Given the description of an element on the screen output the (x, y) to click on. 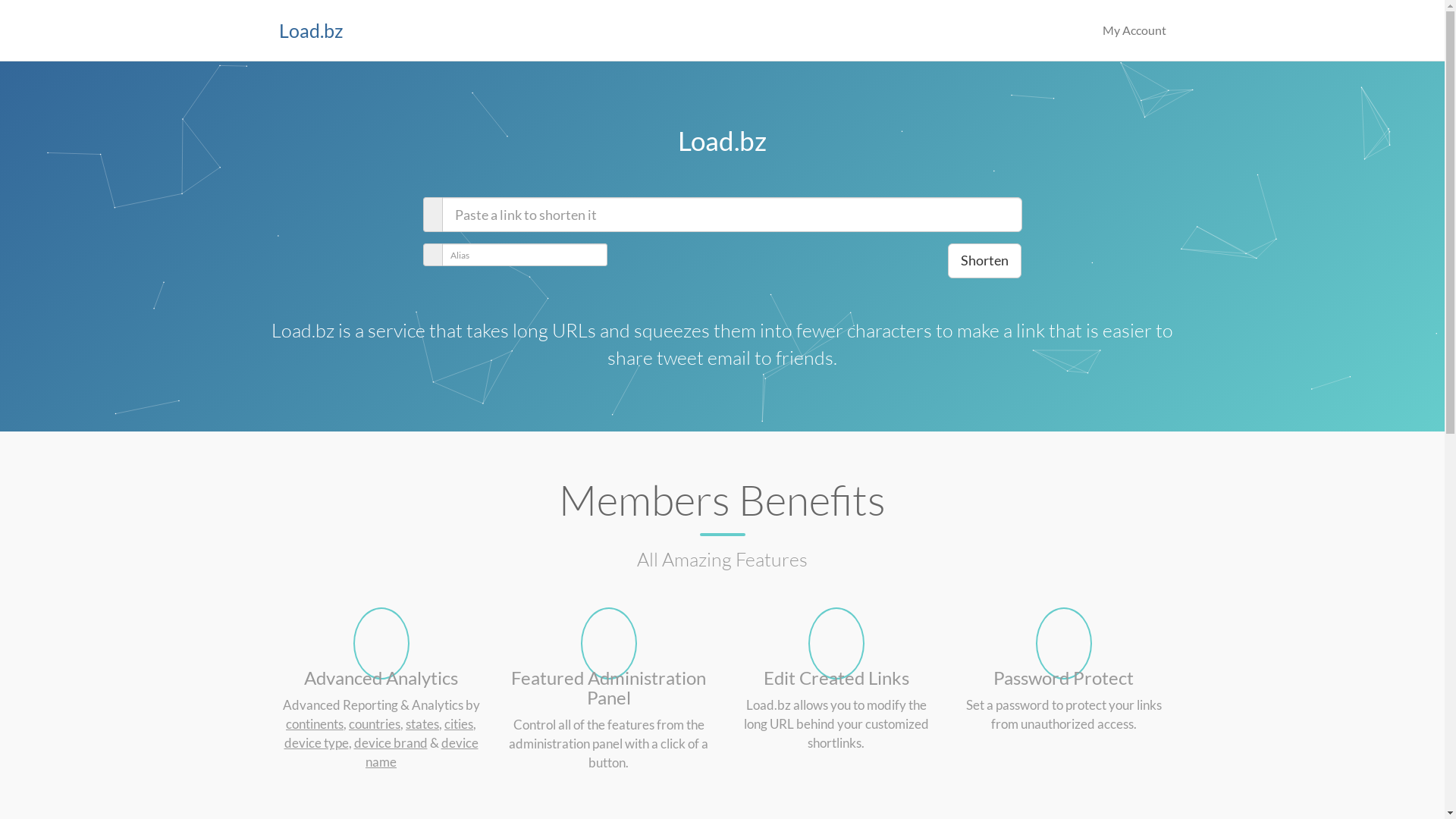
My Account Element type: text (1133, 30)
Load.bz Element type: text (310, 22)
Shorten Element type: text (984, 260)
